Given the description of an element on the screen output the (x, y) to click on. 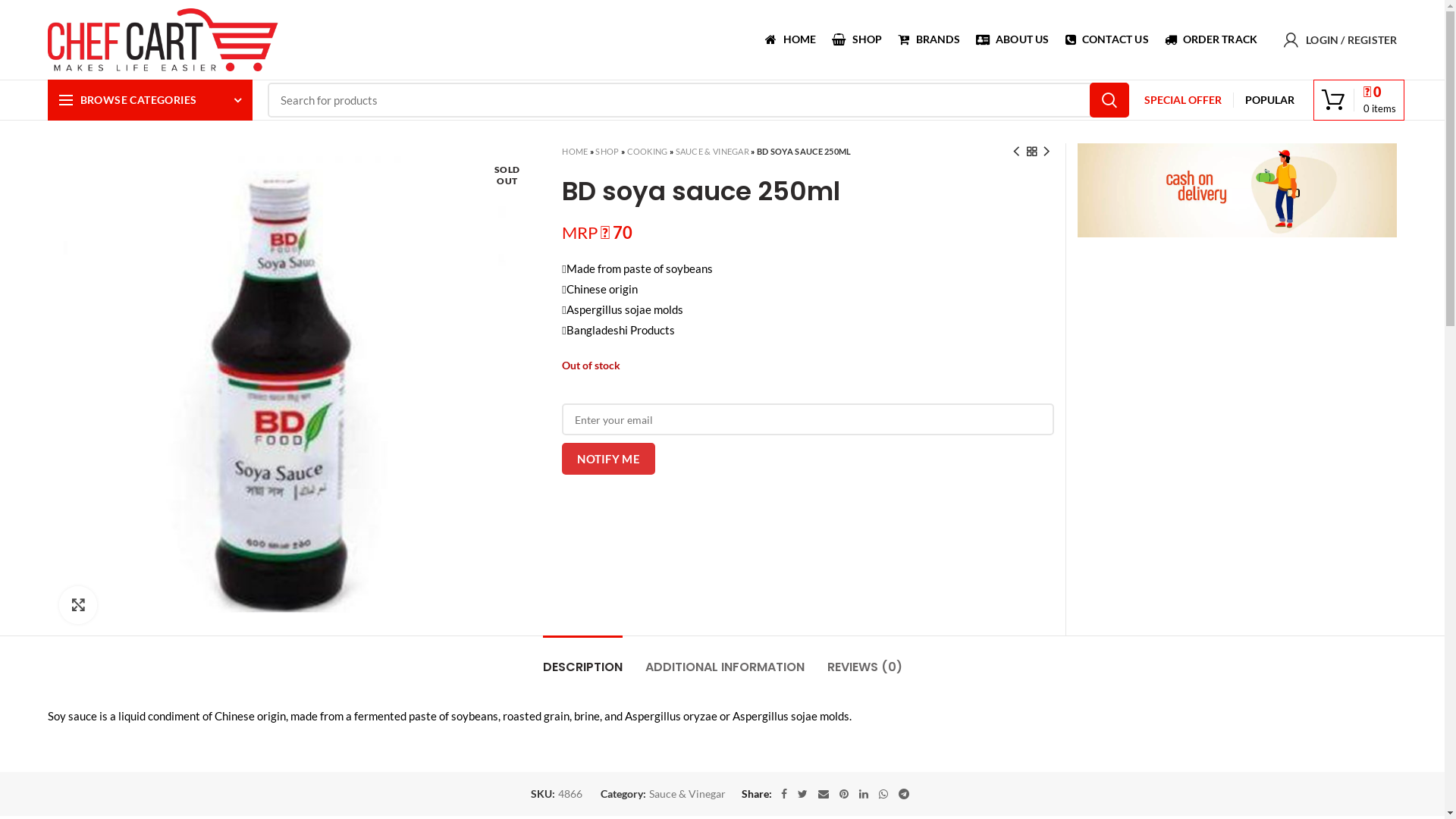
Previous product Element type: text (1015, 151)
ADDITIONAL INFORMATION Element type: text (723, 659)
BRANDS Element type: text (927, 39)
BD soya sauce 500gm Element type: hover (293, 387)
SHOP Element type: text (606, 151)
Email Element type: text (823, 793)
Telegram Element type: text (903, 793)
Sauce & Vinegar Element type: text (687, 793)
POPULAR Element type: text (1269, 99)
LOGIN / REGISTER Element type: text (1340, 39)
CONTACT US Element type: text (1106, 39)
chef cart cash on delivery Element type: hover (1236, 190)
Twitter Element type: text (801, 793)
HOME Element type: text (789, 39)
SPECIAL OFFER Element type: text (1182, 99)
linkedin Element type: text (863, 793)
Pinterest Element type: text (843, 793)
REVIEWS (0) Element type: text (863, 659)
ORDER TRACK Element type: text (1210, 39)
Next product Element type: text (1046, 151)
SAUCE & VINEGAR Element type: text (712, 151)
Facebook Element type: text (783, 793)
COOKING Element type: text (646, 151)
ABOUT US Element type: text (1012, 39)
WhatsApp Element type: text (883, 793)
HOME Element type: text (574, 151)
NOTIFY ME Element type: text (608, 458)
SHOP Element type: text (856, 39)
SEARCH Element type: text (1109, 99)
DESCRIPTION Element type: text (582, 659)
